Given the description of an element on the screen output the (x, y) to click on. 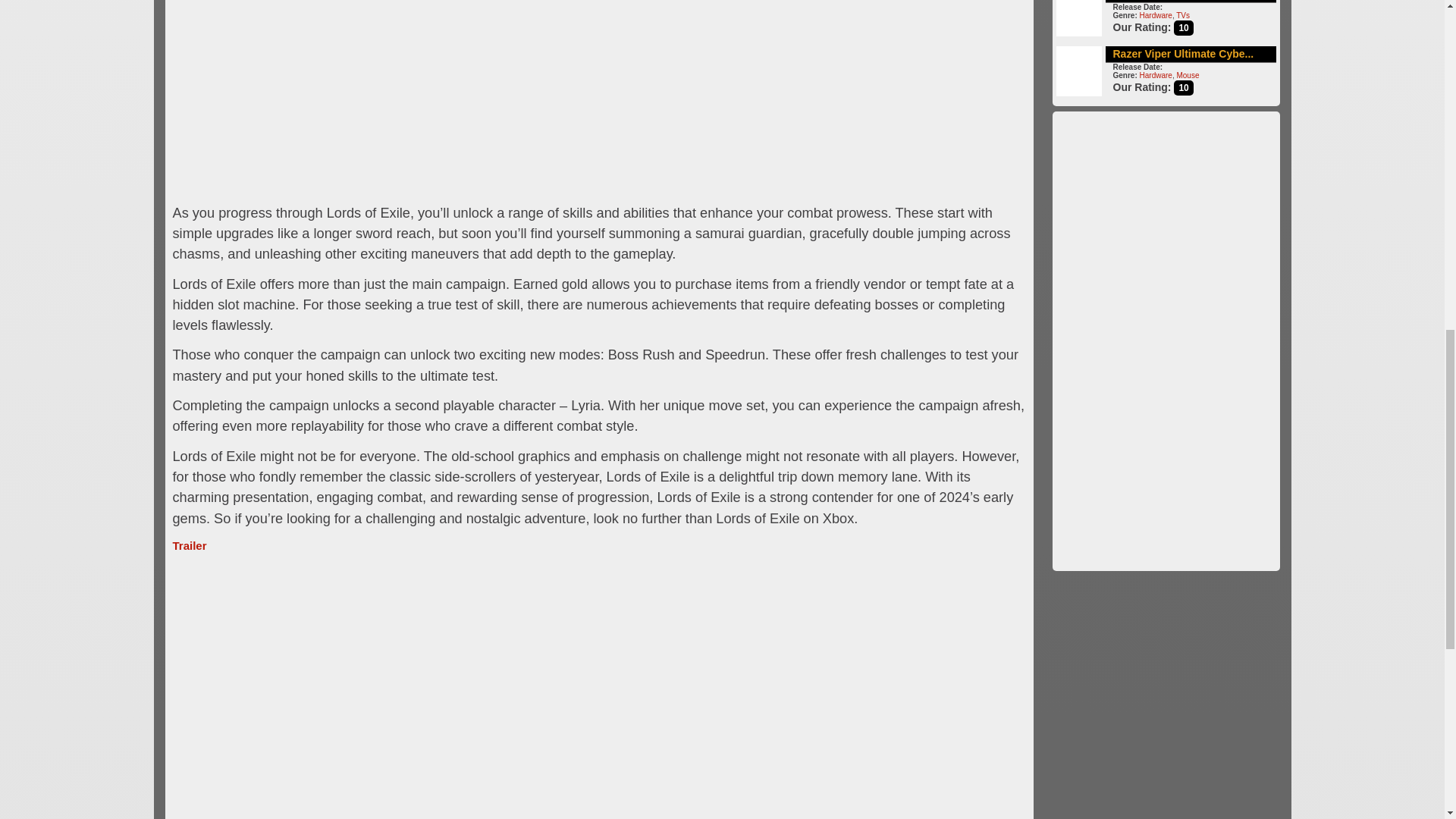
Razer Viper Ultimate Cyberpunk 2077 Edition (1183, 53)
